Given the description of an element on the screen output the (x, y) to click on. 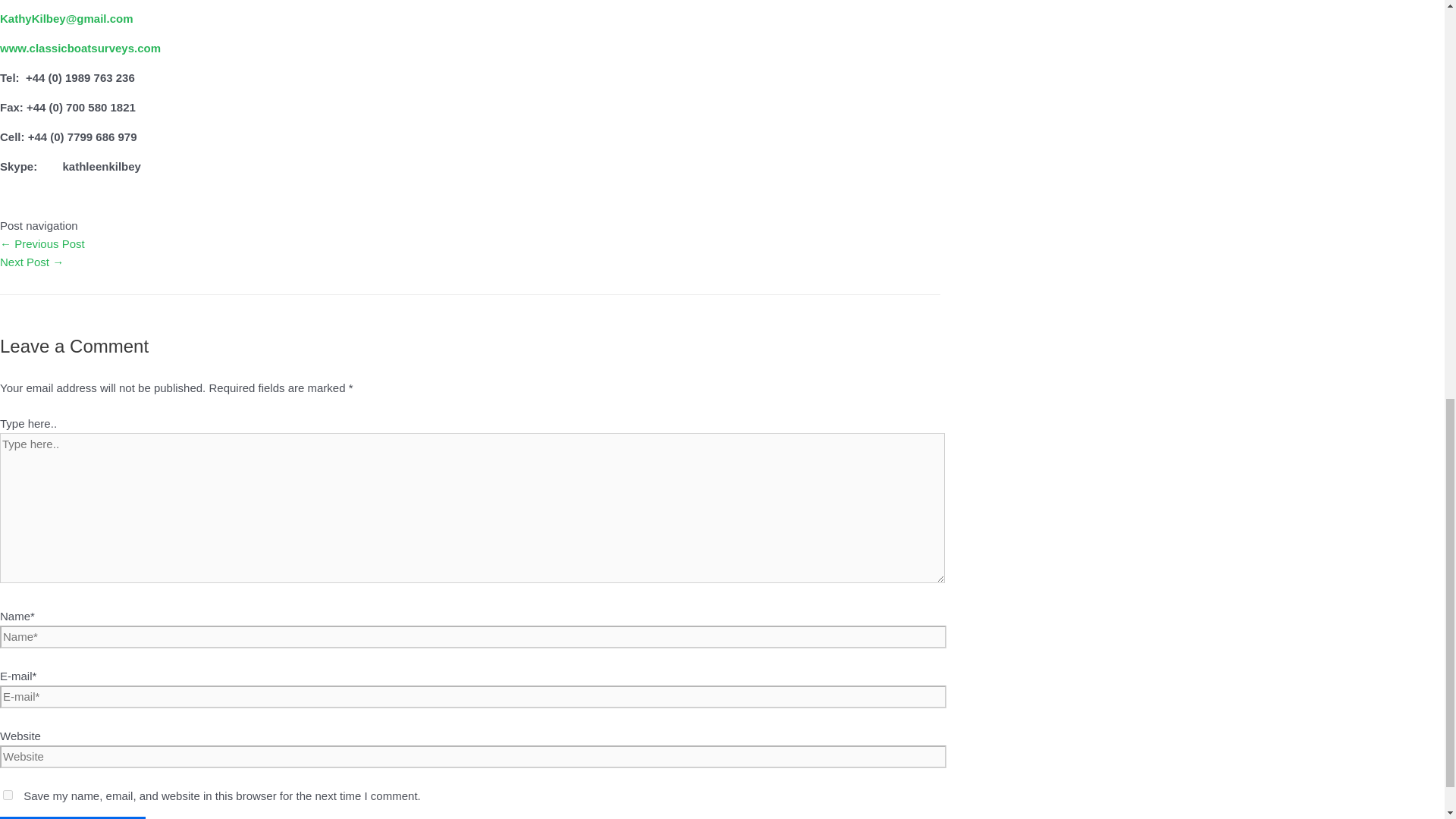
KathyKilbey (32, 18)
www.classicboatsurveys.com (80, 47)
yes (7, 795)
